Given the description of an element on the screen output the (x, y) to click on. 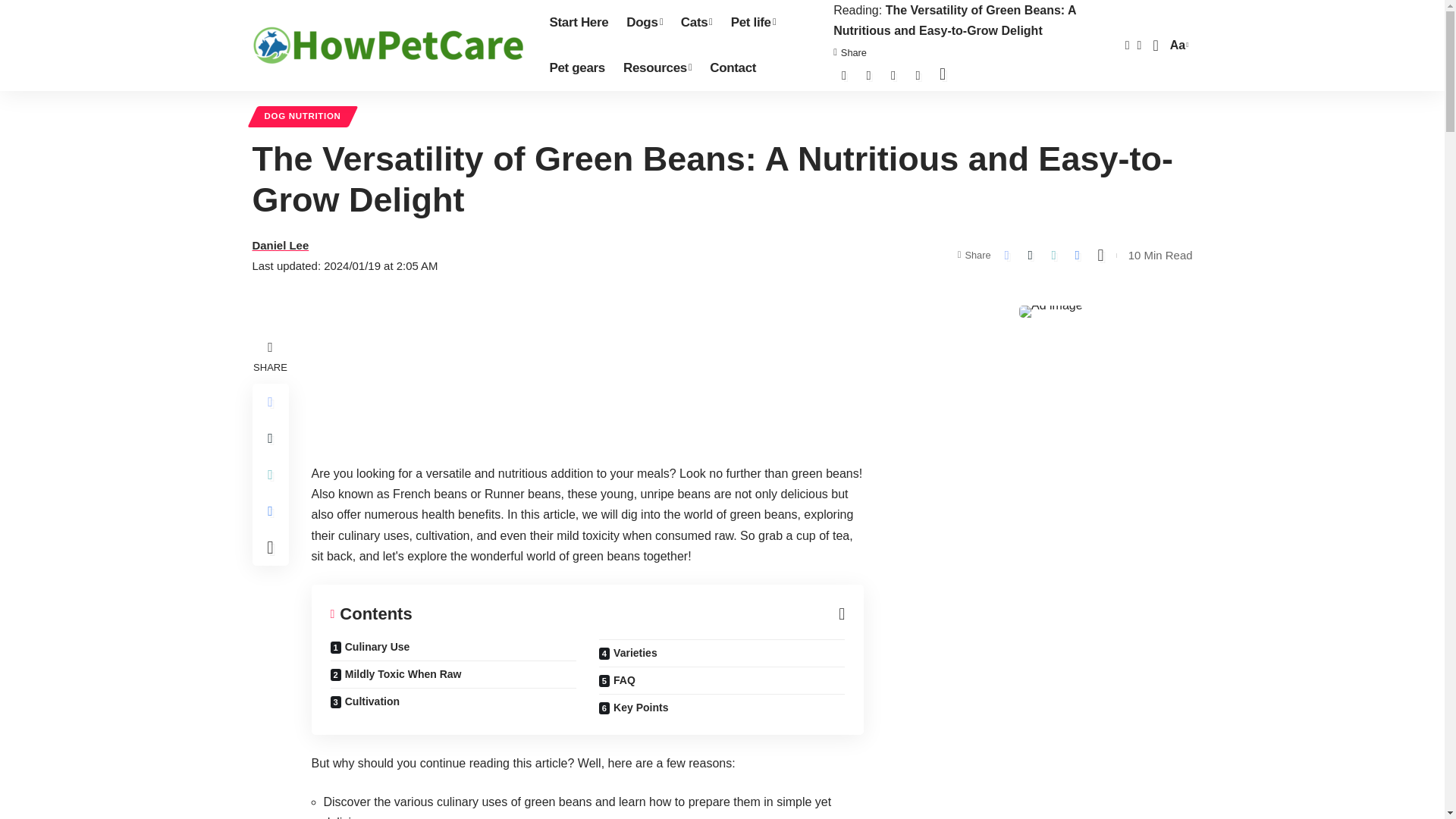
Pet life (753, 22)
Cats (696, 22)
How Pet Care (387, 45)
Pet gears (576, 67)
Start Here (578, 22)
Contact (1177, 45)
Dogs (732, 67)
Resources (644, 22)
